Given the description of an element on the screen output the (x, y) to click on. 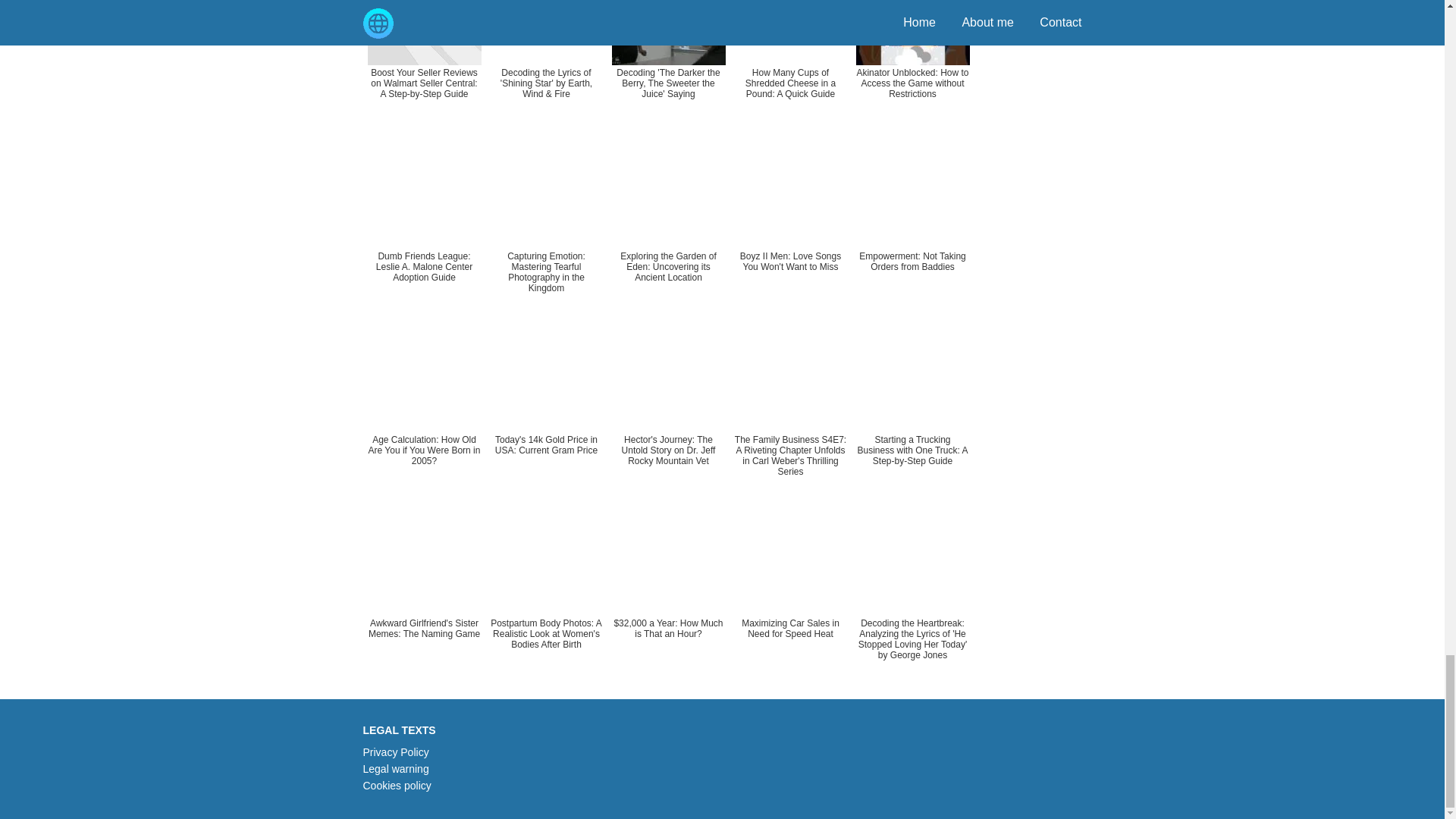
Privacy Policy (395, 752)
Cookies policy (396, 785)
How Many Cups of Shredded Cheese in a Pound: A Quick Guide (790, 63)
Legal warning (395, 768)
